Given the description of an element on the screen output the (x, y) to click on. 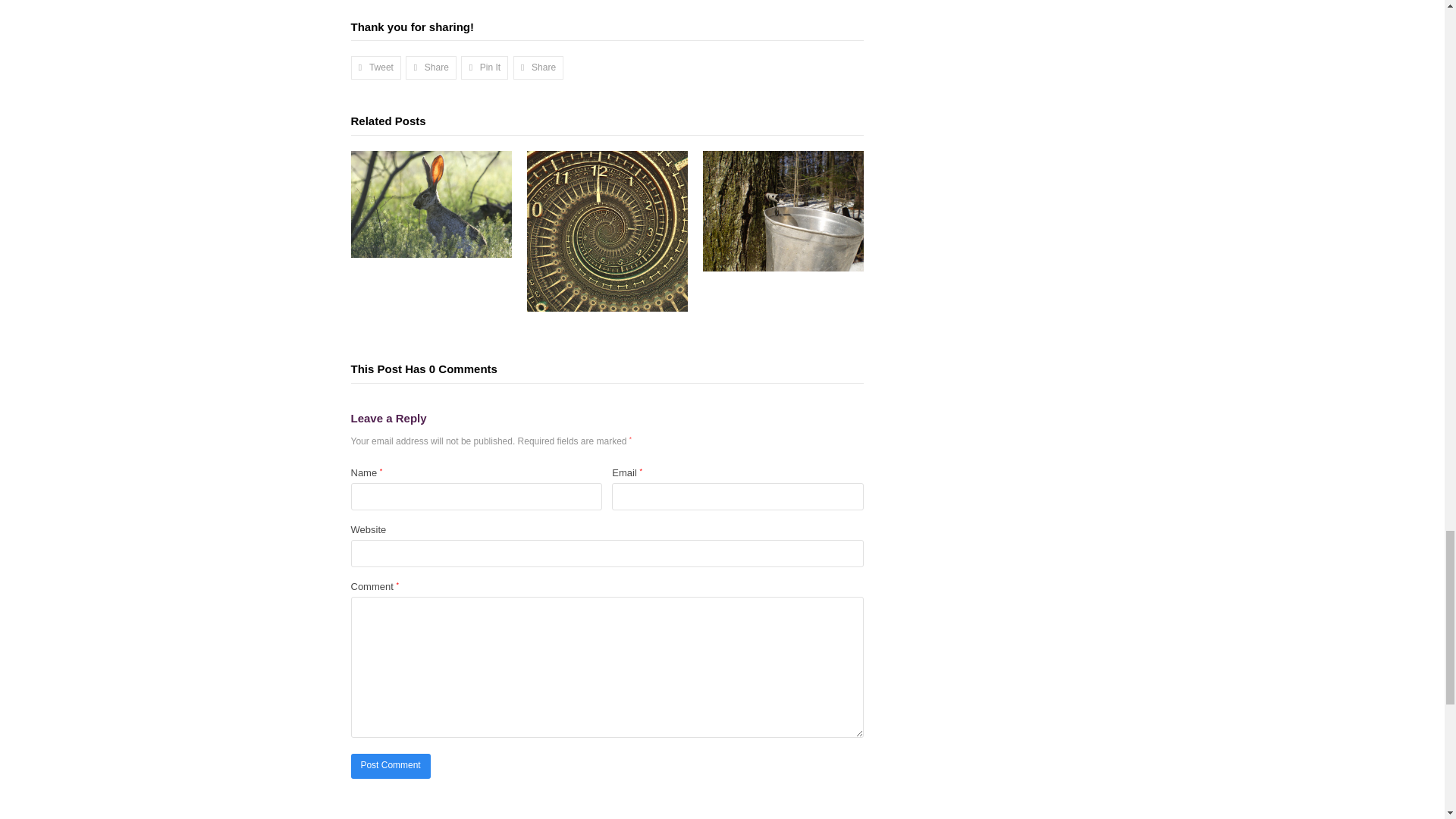
Tuning In (430, 203)
Tapping into Joy (783, 210)
Tweet (375, 67)
Pin It (484, 67)
Share (538, 67)
A Different Retirement Planning (607, 231)
Post Comment (389, 765)
Share (431, 67)
Post Comment (389, 765)
